Given the description of an element on the screen output the (x, y) to click on. 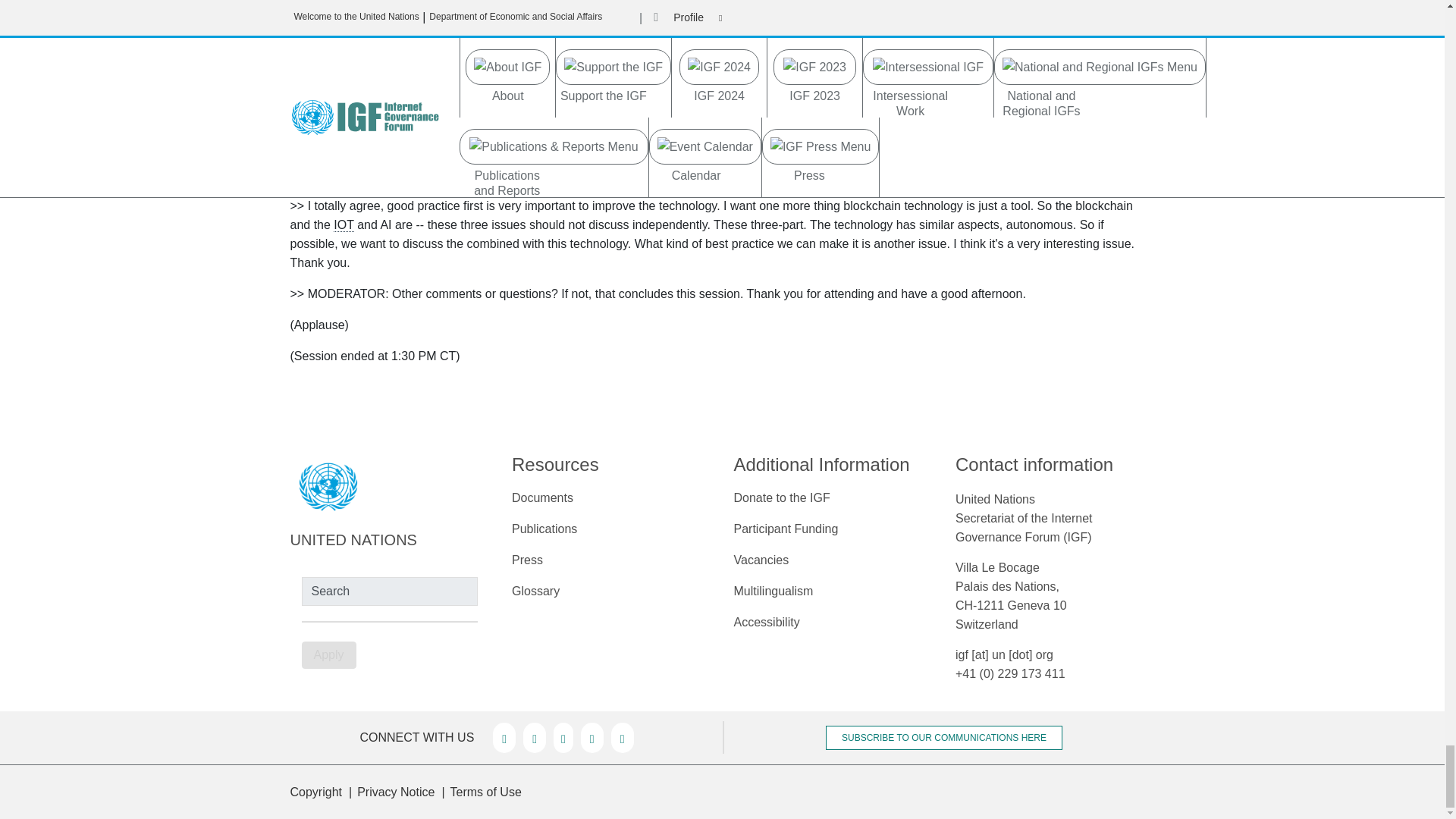
Search (390, 591)
Apply (328, 655)
Internet of Things  (343, 224)
